Given the description of an element on the screen output the (x, y) to click on. 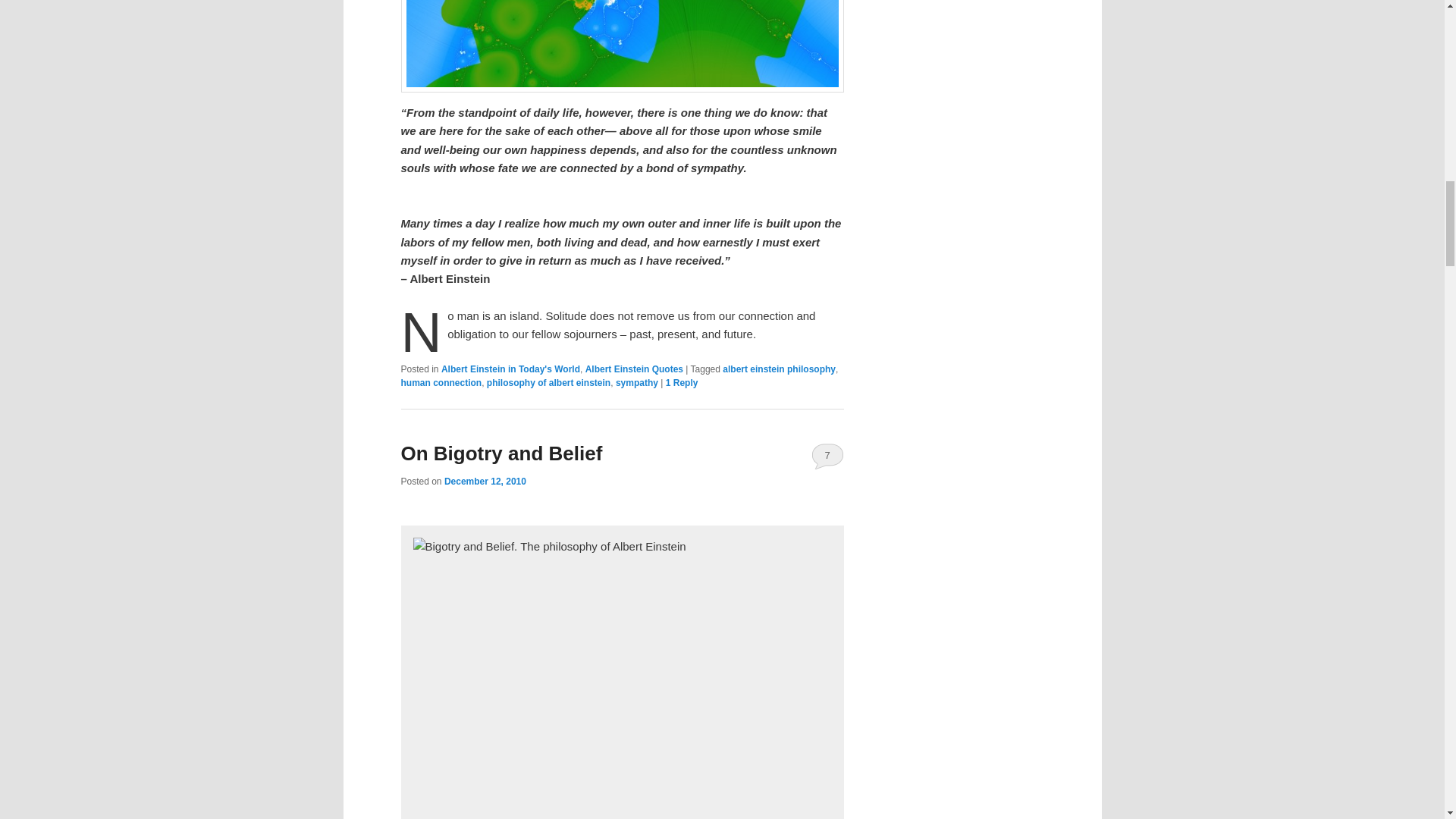
December 12, 2010 (484, 480)
Albert Einstein Quotes (633, 368)
On Bigotry and Belief (501, 453)
7 (827, 455)
albert einstein philosophy (778, 368)
human connection (440, 382)
Albert Einstein in Today's World (510, 368)
sympathy (636, 382)
6:39 pm (484, 480)
1 Reply (681, 382)
philosophy of albert einstein (548, 382)
